Given the description of an element on the screen output the (x, y) to click on. 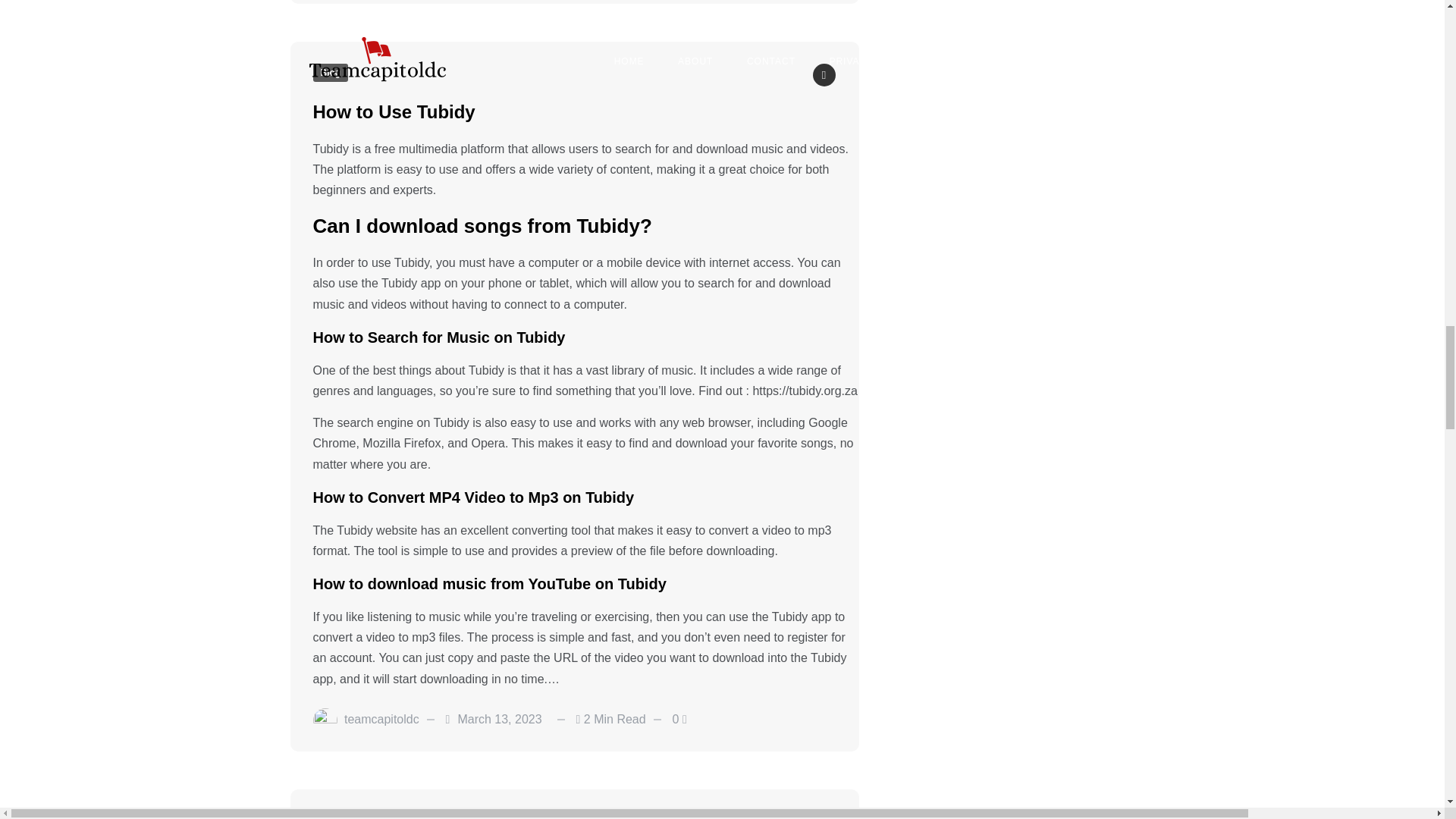
Blog (330, 72)
